Given the description of an element on the screen output the (x, y) to click on. 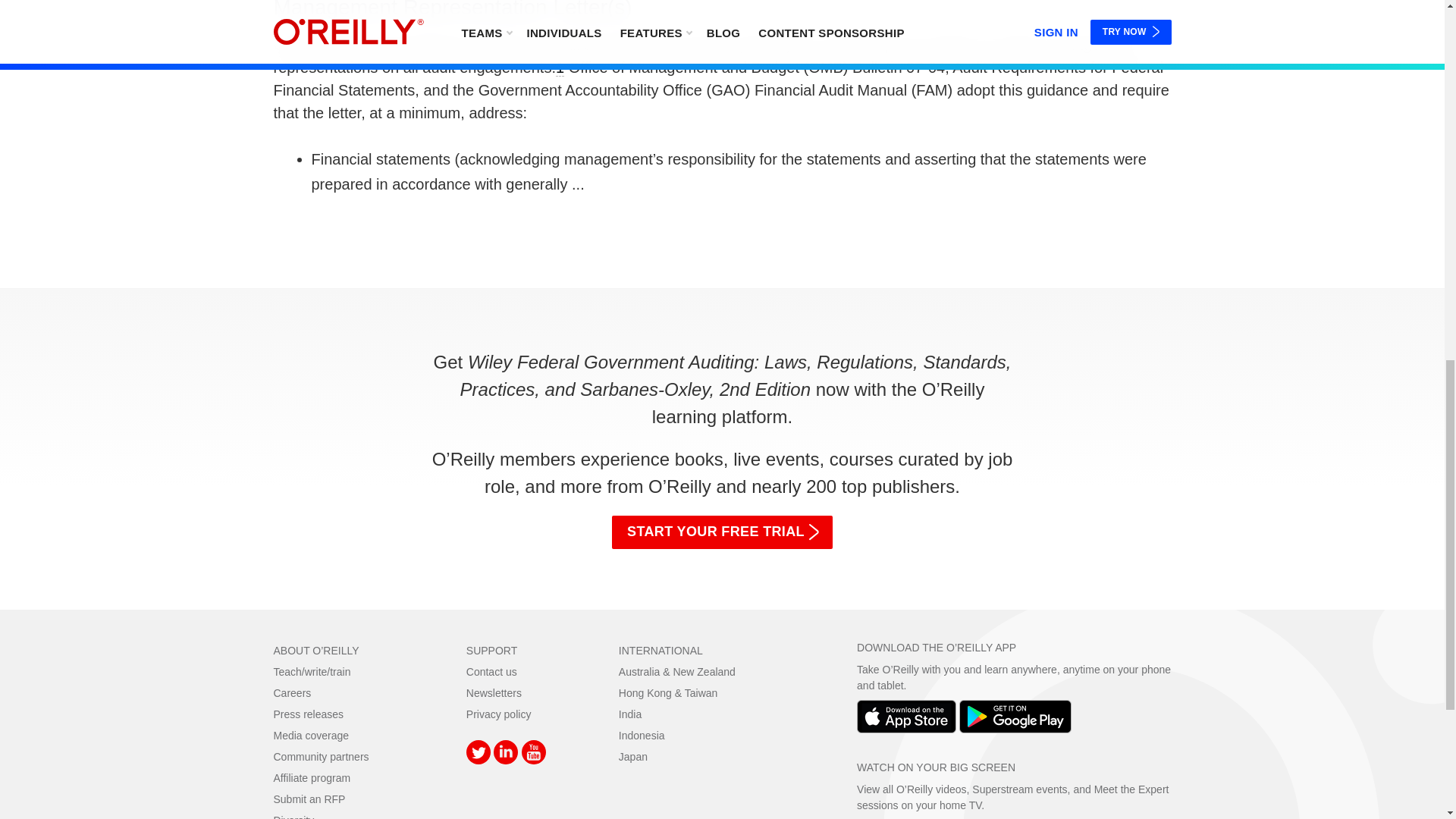
Diversity (293, 816)
Newsletters (493, 693)
Media coverage (311, 735)
Contact us (490, 671)
Careers (292, 693)
Community partners (320, 756)
START YOUR FREE TRIAL (721, 531)
SUPPORT (490, 650)
Affiliate program (311, 777)
Press releases (308, 714)
Privacy policy (498, 714)
Submit an RFP (309, 799)
